Given the description of an element on the screen output the (x, y) to click on. 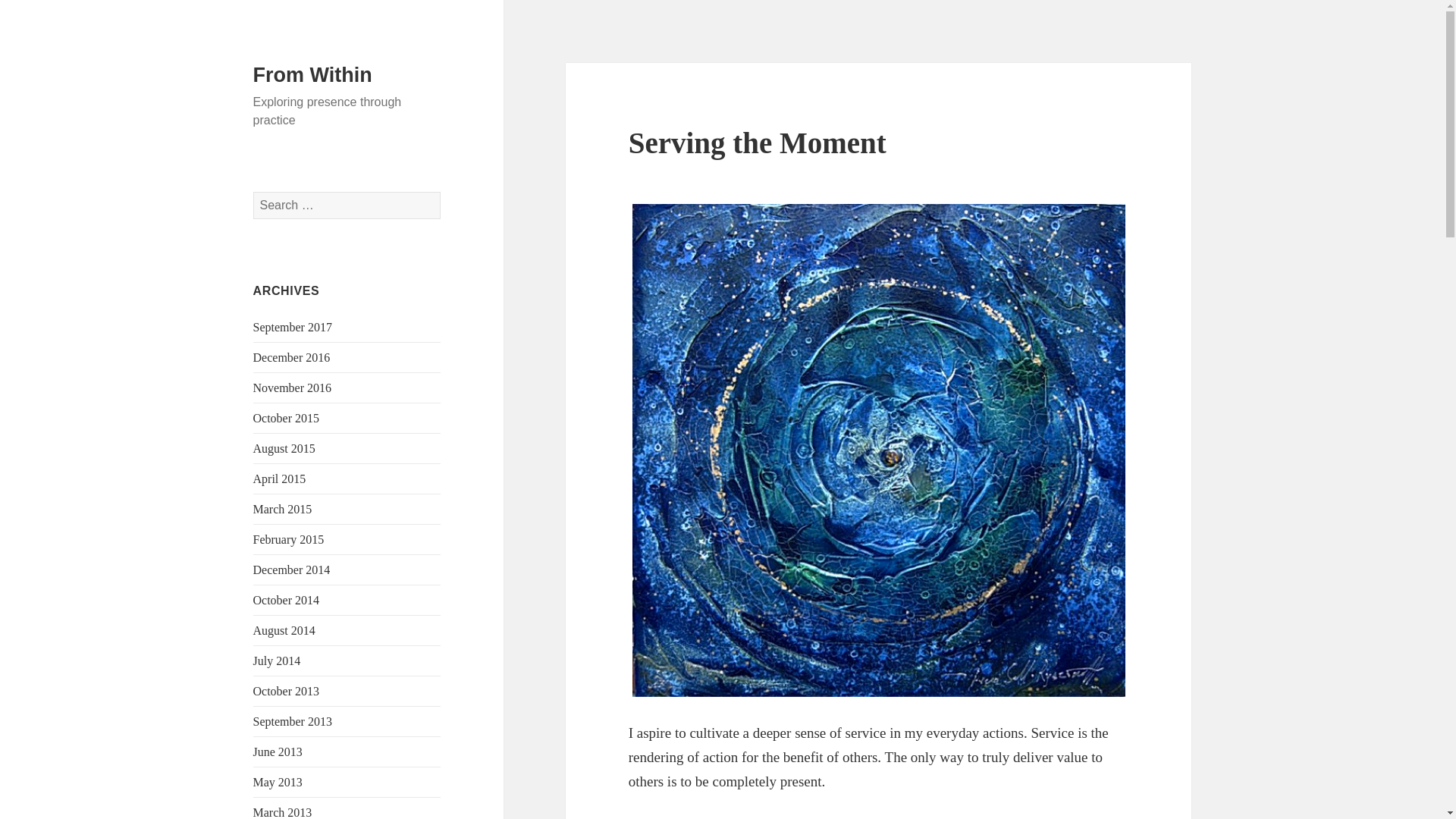
June 2013 (277, 751)
November 2016 (292, 387)
August 2014 (284, 630)
August 2015 (284, 448)
April 2015 (279, 478)
December 2016 (291, 357)
September 2013 (292, 721)
October 2014 (286, 599)
July 2014 (277, 660)
